Given the description of an element on the screen output the (x, y) to click on. 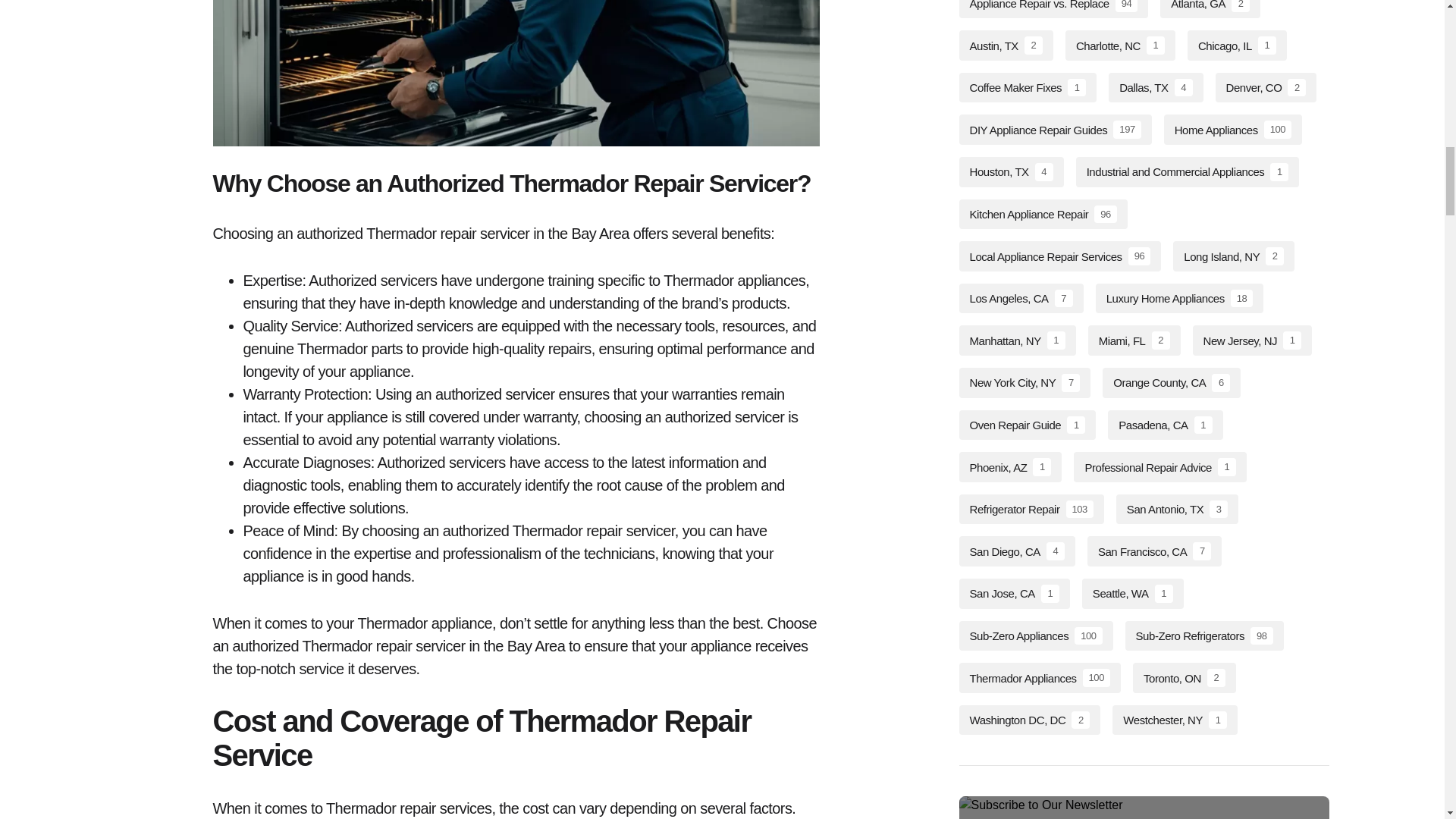
bay area thermador repair (515, 73)
